Given the description of an element on the screen output the (x, y) to click on. 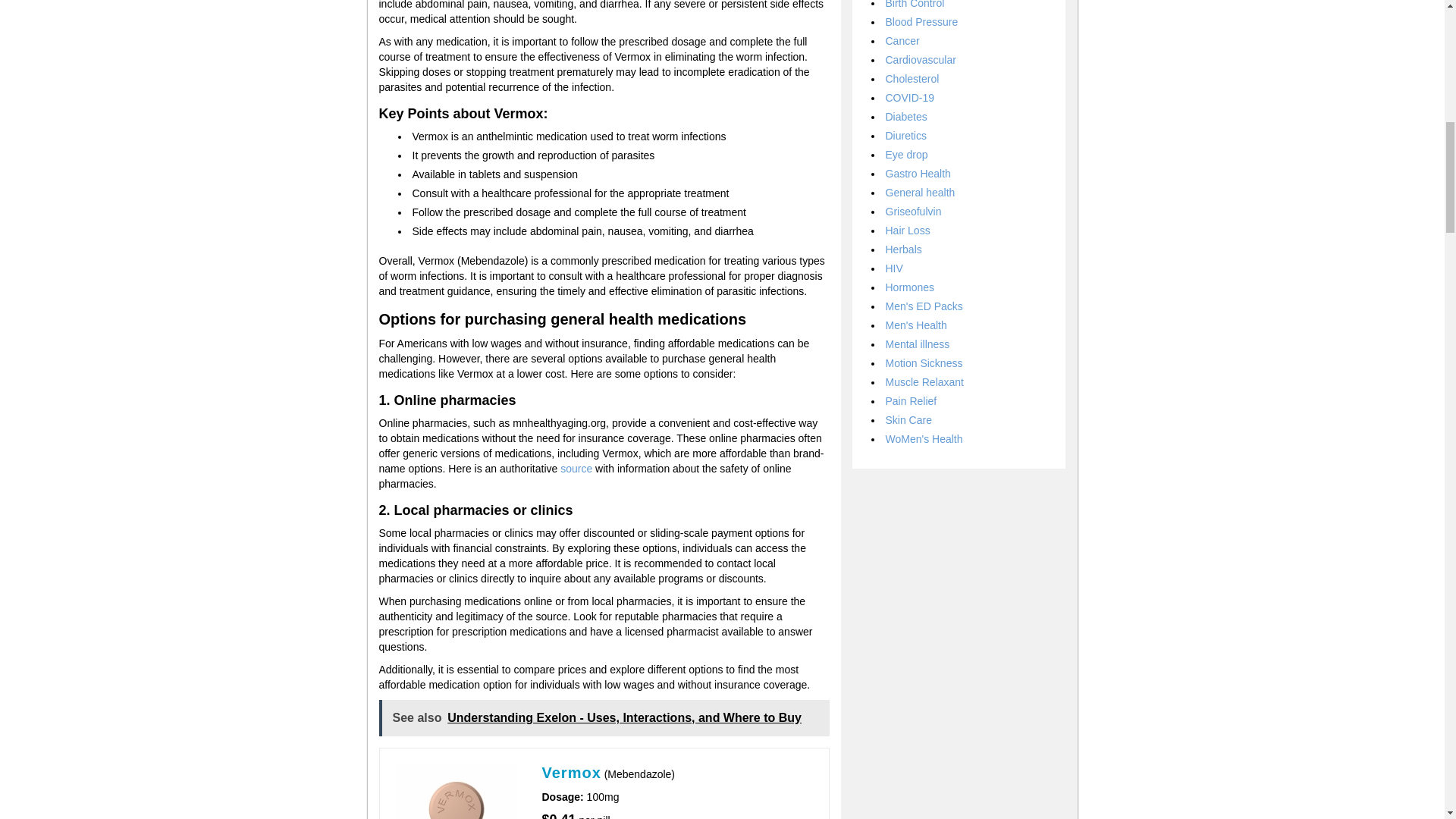
source (576, 468)
Birth Control (914, 4)
